Given the description of an element on the screen output the (x, y) to click on. 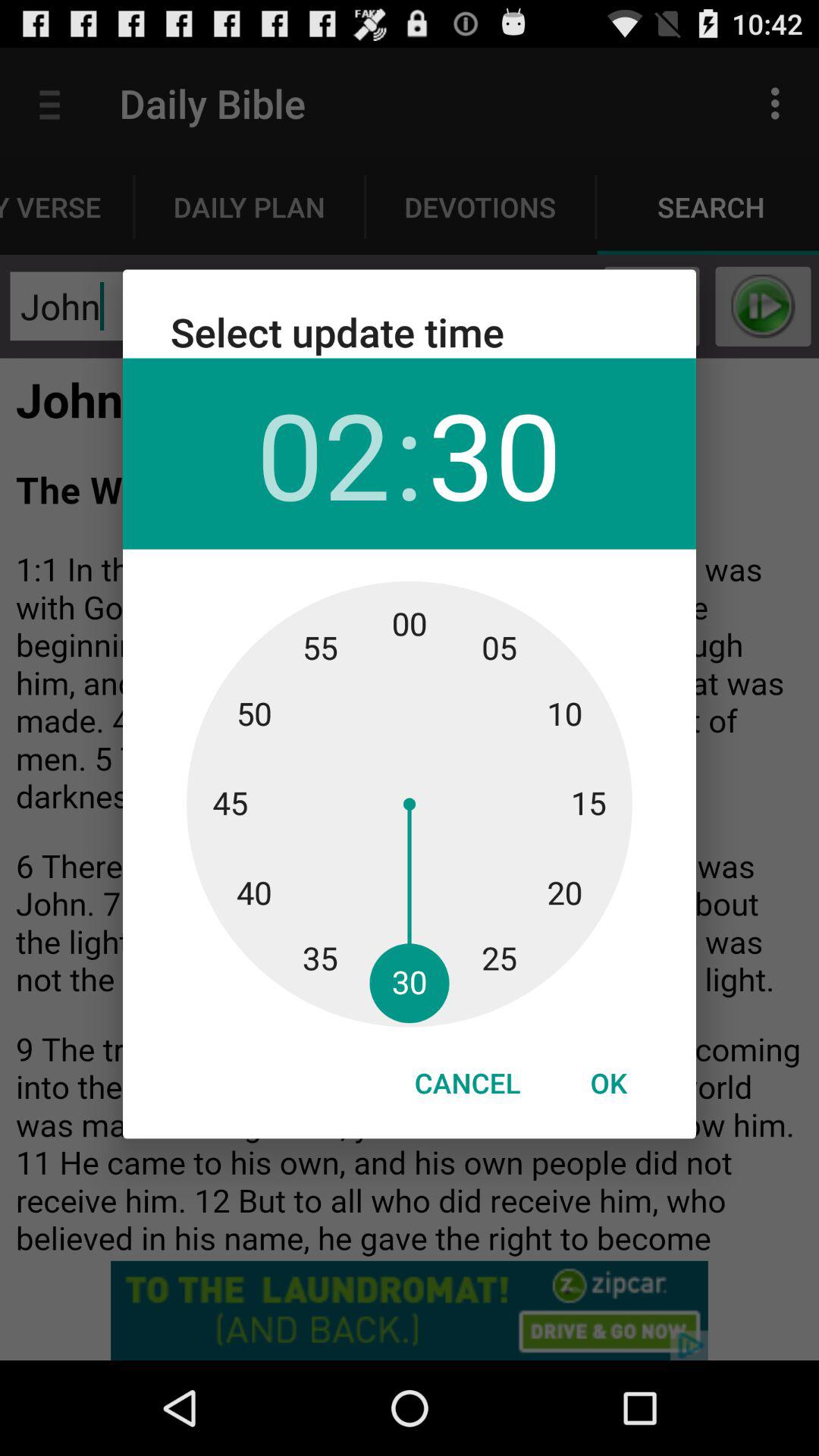
tap the item below the select update time item (494, 453)
